Given the description of an element on the screen output the (x, y) to click on. 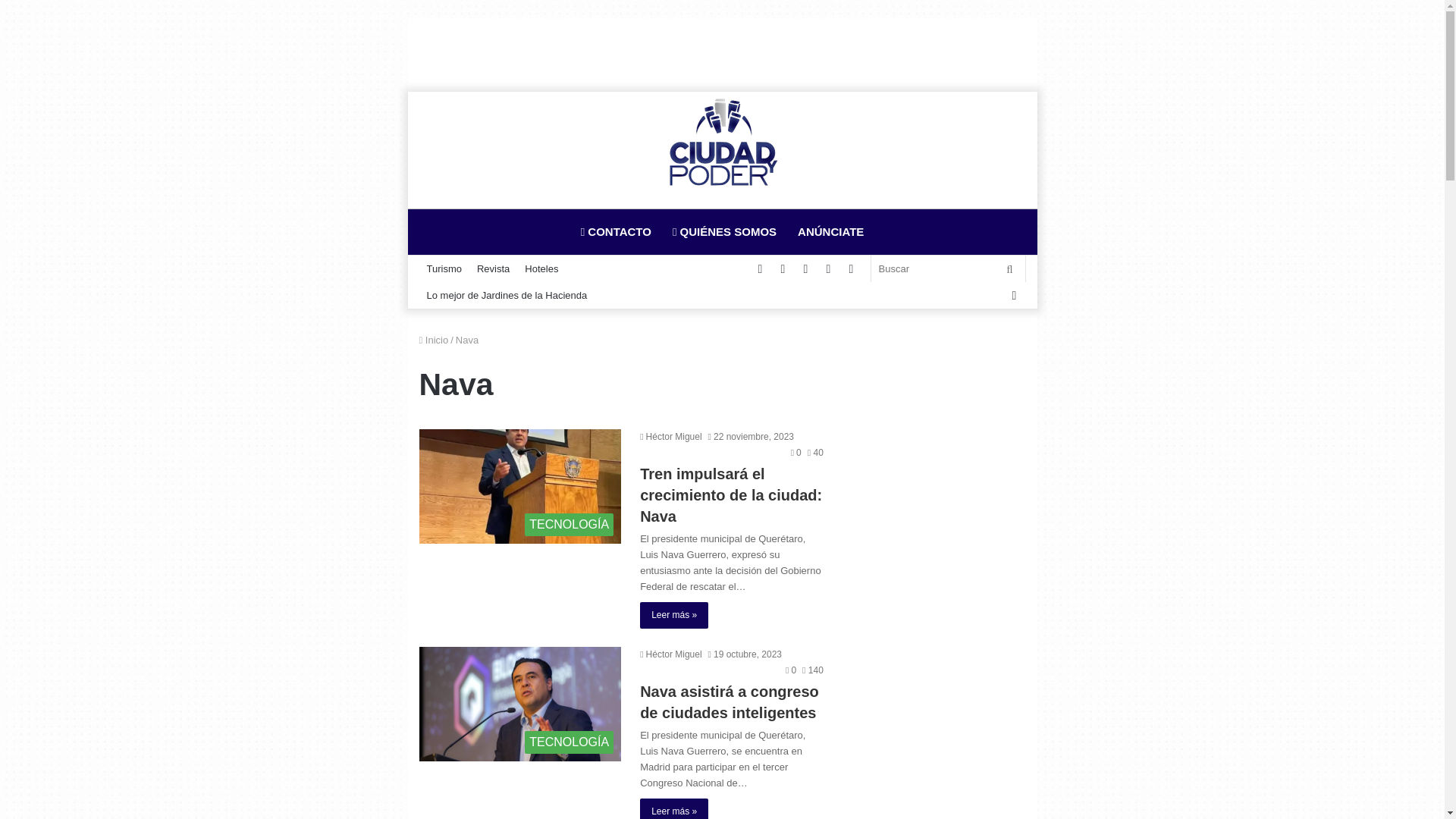
Buscar Element type: text (1009, 268)
Twitter Element type: text (760, 268)
Facebook Element type: text (1013, 295)
Advertisement Element type: hover (721, 52)
Inicio Element type: text (433, 339)
Advertisement Element type: hover (941, 559)
CONTACTO Element type: text (616, 231)
Instagram Element type: text (805, 268)
Turismo Element type: text (443, 268)
YouTube Element type: text (782, 268)
TikTok Element type: text (828, 268)
Revista Element type: text (493, 268)
Hoteles Element type: text (541, 268)
Ciudad y Poder Element type: hover (722, 142)
RSS Element type: text (851, 268)
Buscar Element type: hover (947, 268)
Lo mejor de Jardines de la Hacienda Element type: text (506, 295)
